Given the description of an element on the screen output the (x, y) to click on. 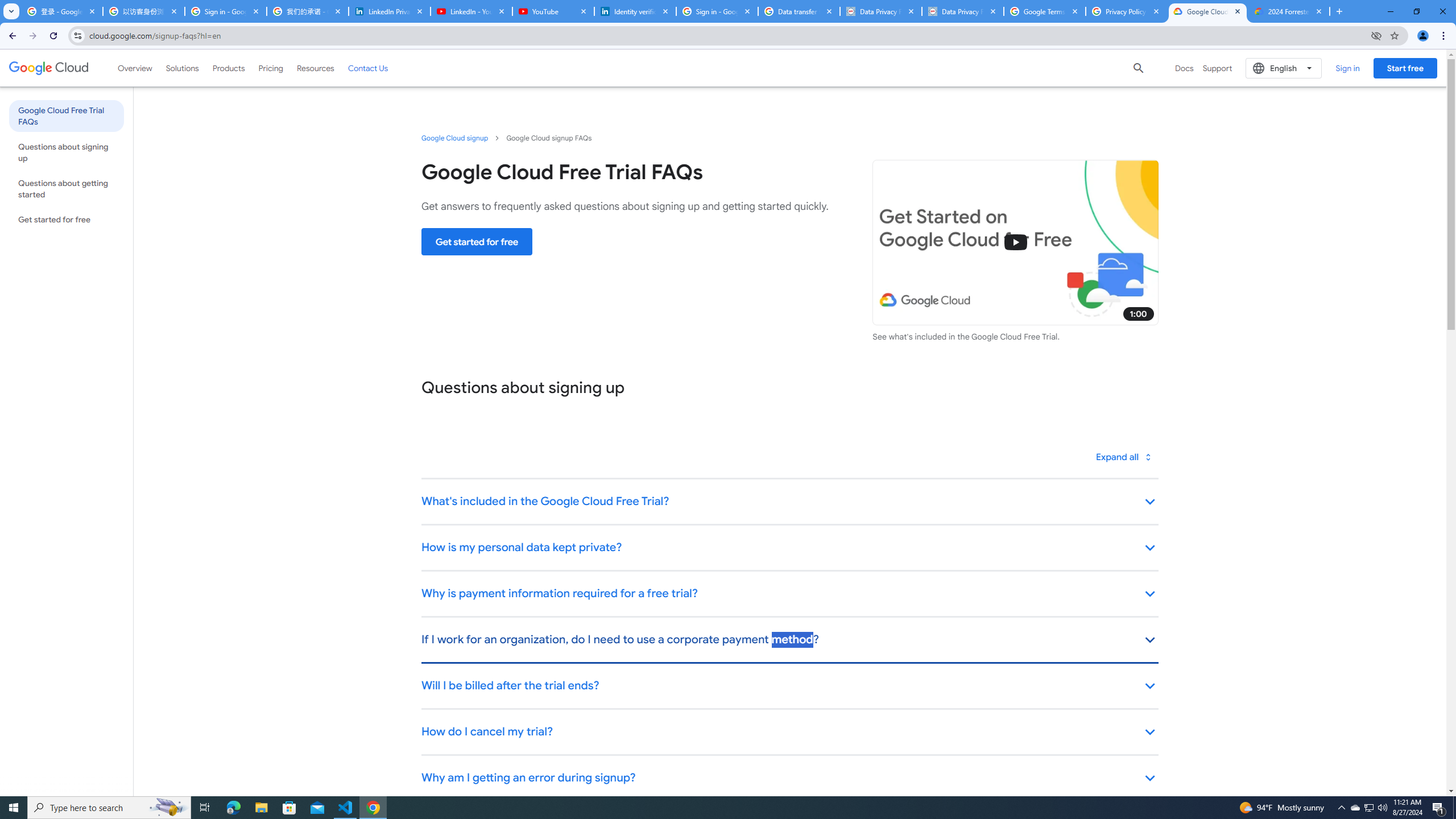
Why am I getting an error during signup? keyboard_arrow_down (789, 778)
Data Privacy Framework (880, 11)
Solutions (181, 67)
Data Privacy Framework (963, 11)
Resources (314, 67)
Questions about getting started (65, 188)
YouTube (552, 11)
Google Cloud Free Trial FAQs | Google Cloud (1207, 11)
